Given the description of an element on the screen output the (x, y) to click on. 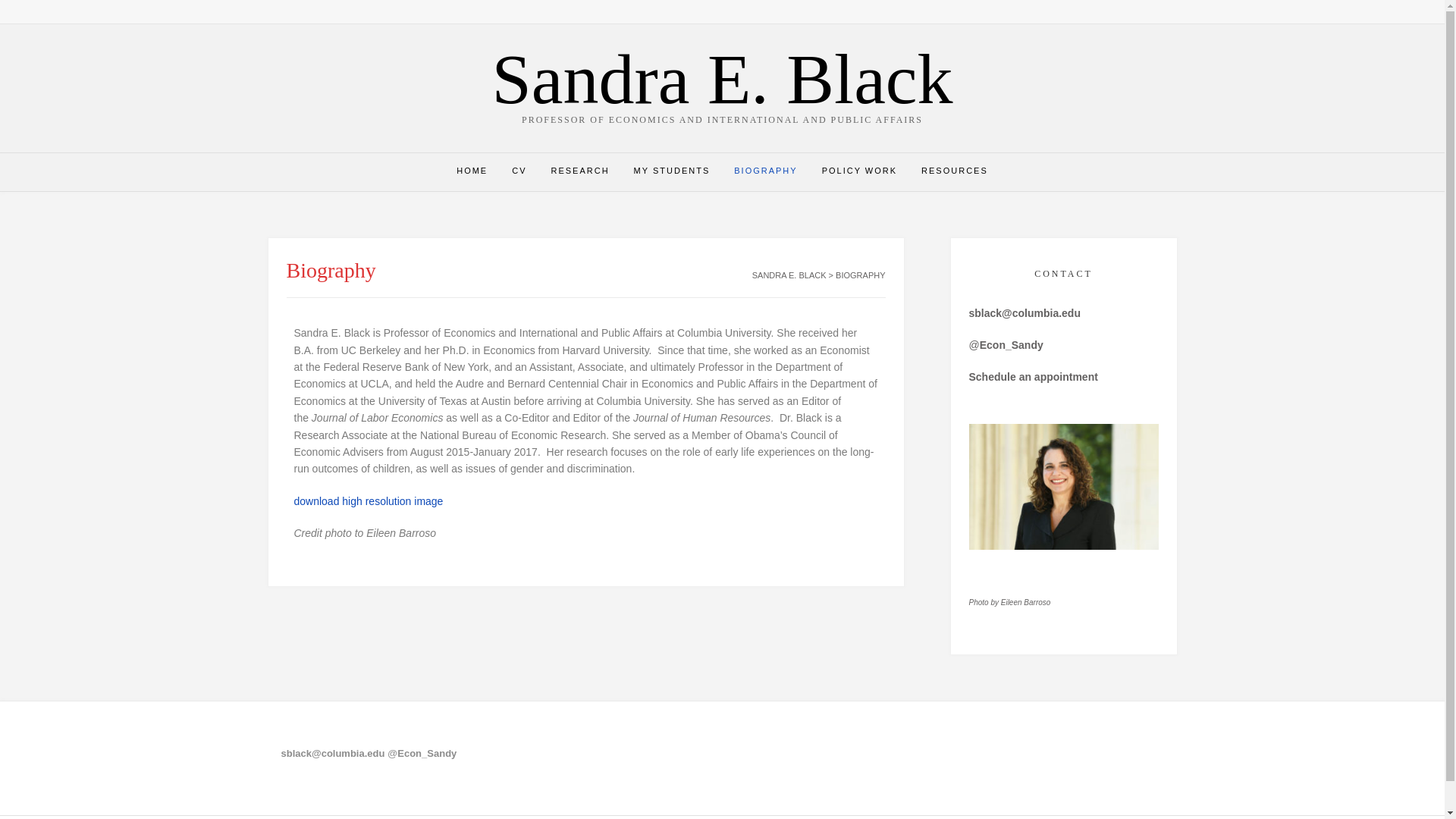
Sandra E. Black (722, 78)
Sandra E. Black (722, 78)
HOME (471, 171)
MY STUDENTS (671, 171)
download high resolution image (369, 500)
BIOGRAPHY (765, 171)
Schedule an appointment (1033, 377)
POLICY WORK (858, 171)
CV (518, 171)
SANDRA E. BLACK (789, 275)
